Given the description of an element on the screen output the (x, y) to click on. 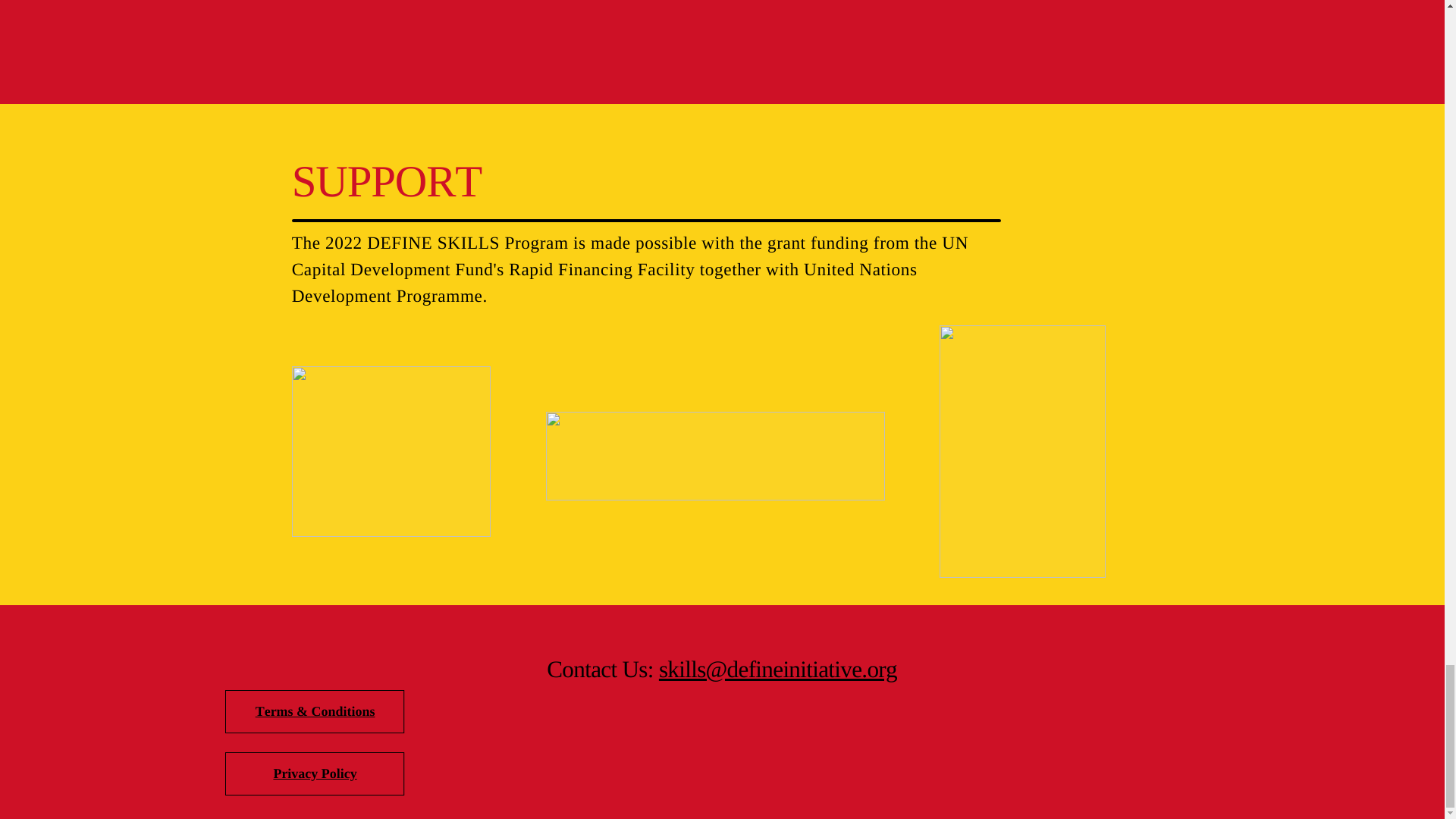
Privacy Policy (314, 773)
